Given the description of an element on the screen output the (x, y) to click on. 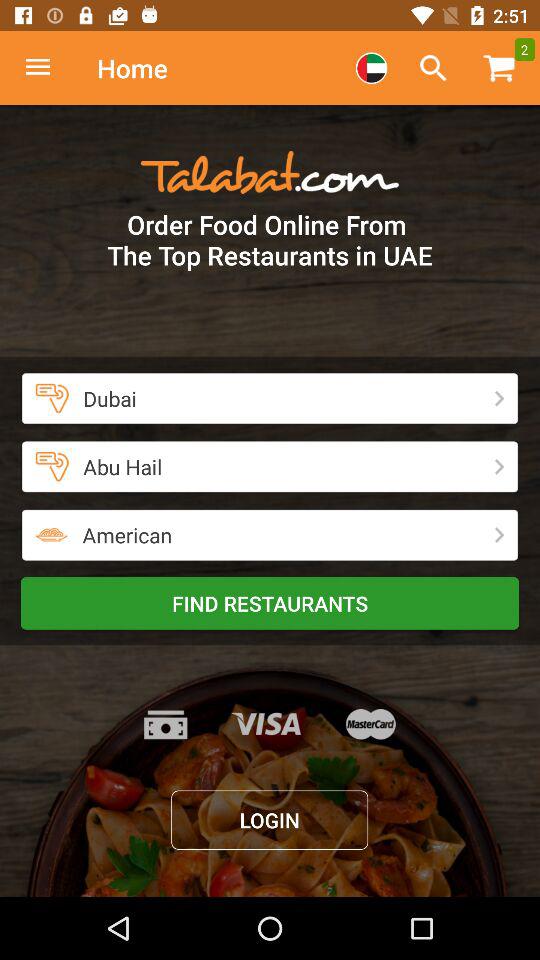
change country (371, 68)
